Given the description of an element on the screen output the (x, y) to click on. 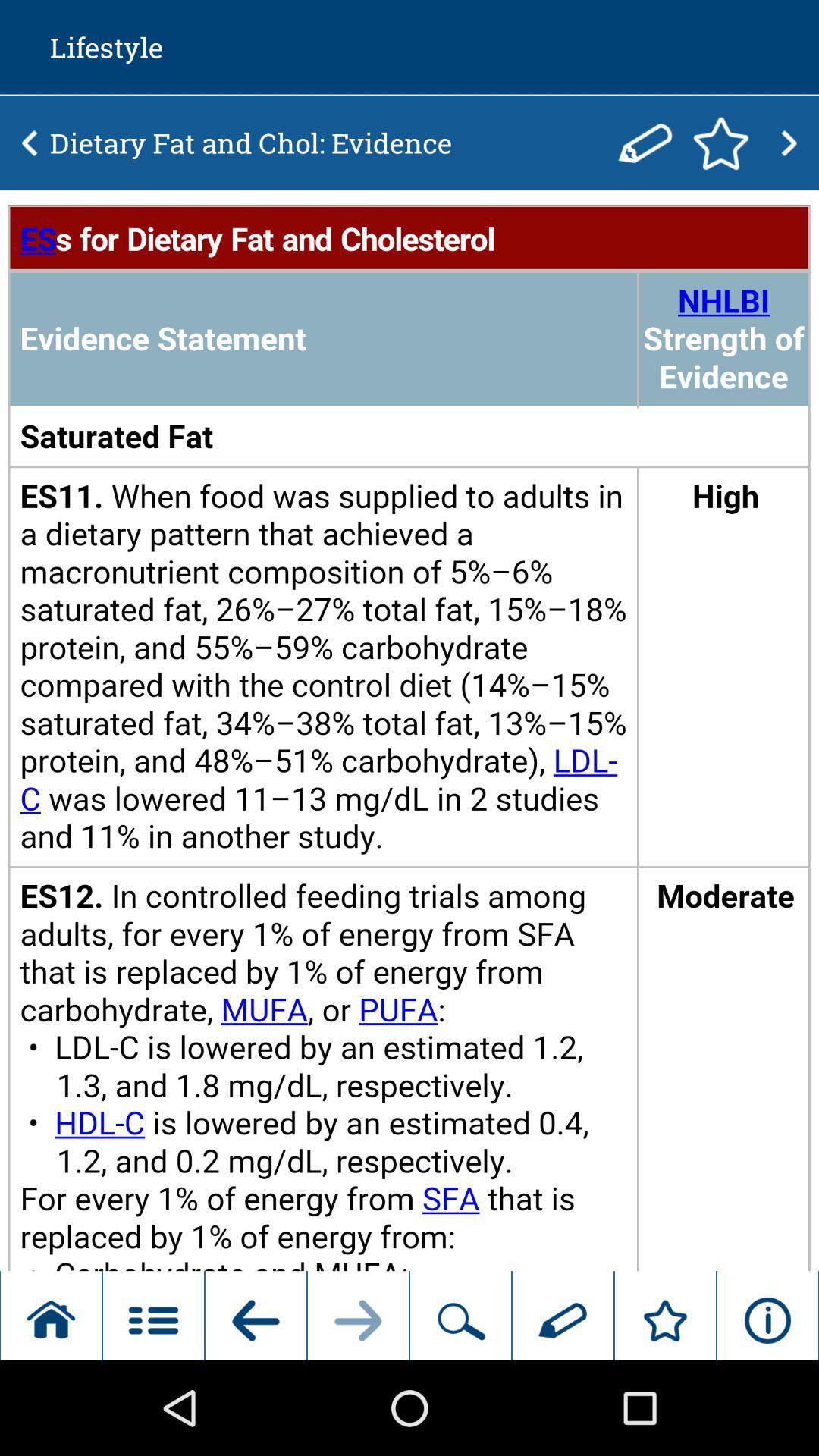
go to previous (788, 143)
